Given the description of an element on the screen output the (x, y) to click on. 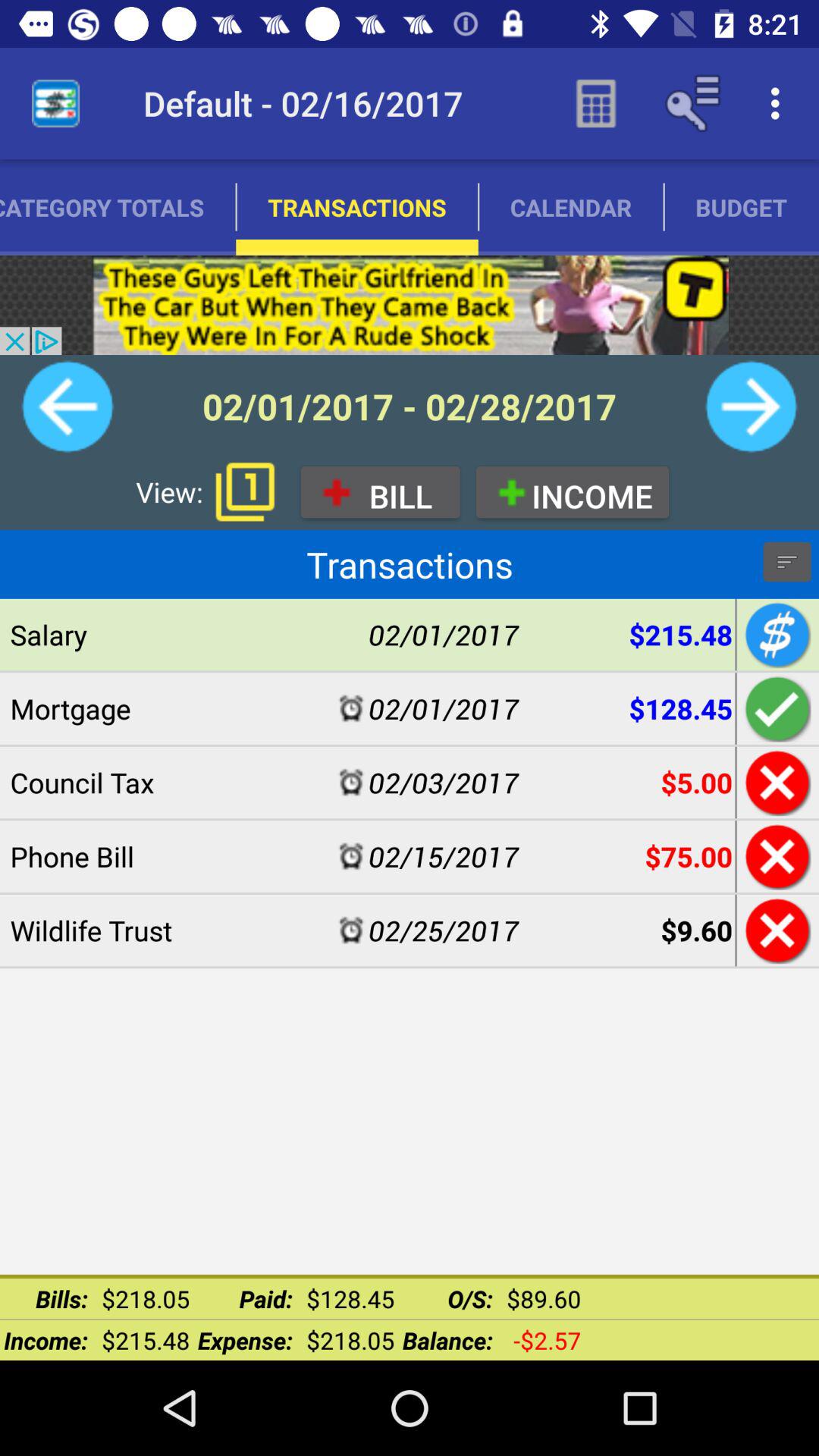
go to previous month 's bill (67, 406)
